Given the description of an element on the screen output the (x, y) to click on. 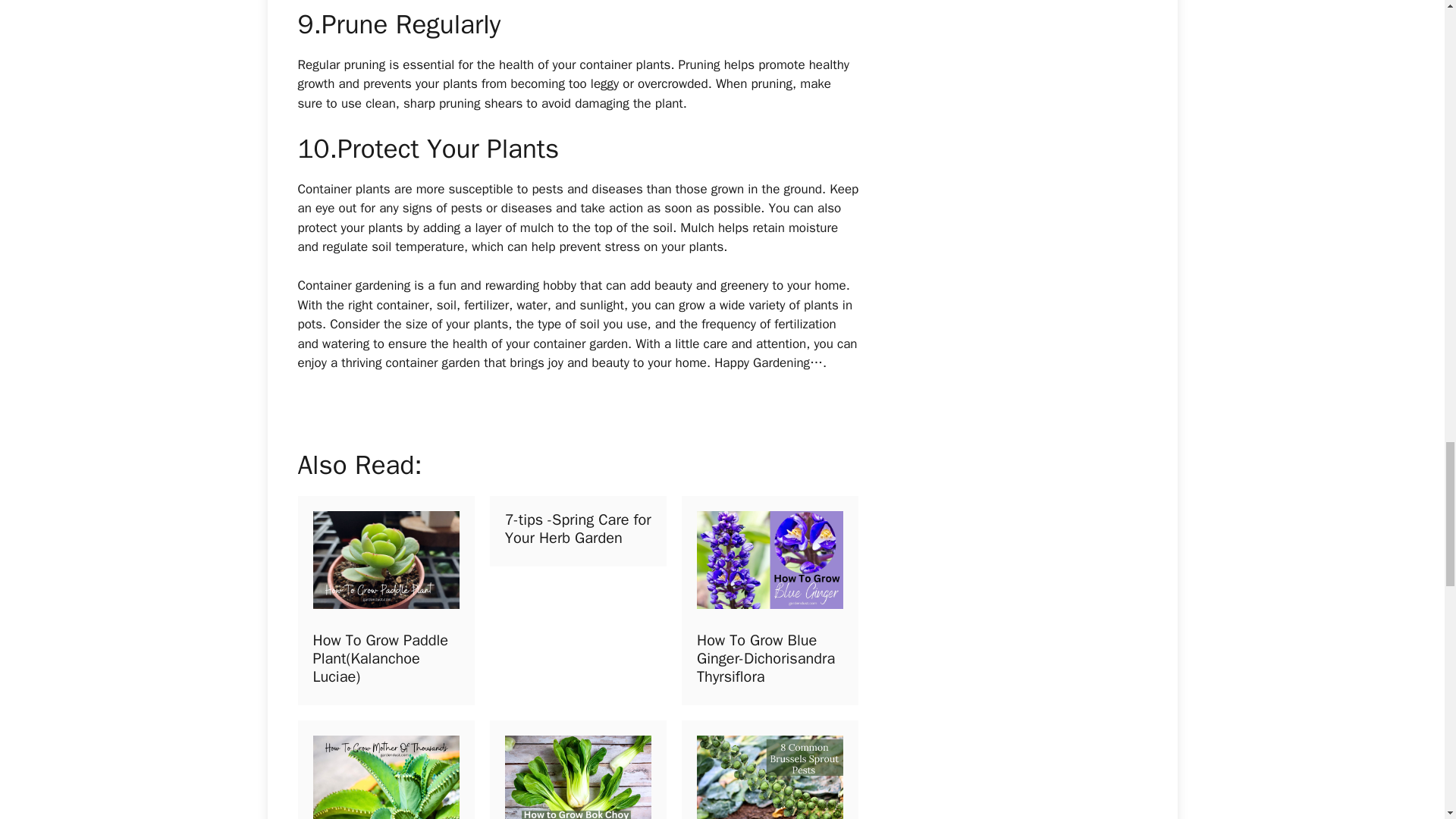
How to Grow Bok Choy (570, 769)
How To Grow Mother Of Thousands (378, 769)
7-tips -Spring Care for Your Herb Garden (577, 528)
How To Grow Blue Ginger-Dichorisandra Thyrsiflora (762, 600)
7-tips -Spring Care for Your Herb Garden (570, 600)
8 Common Brussels Sprout Pests (762, 769)
How To Grow Blue Ginger-Dichorisandra Thyrsiflora (765, 658)
